Given the description of an element on the screen output the (x, y) to click on. 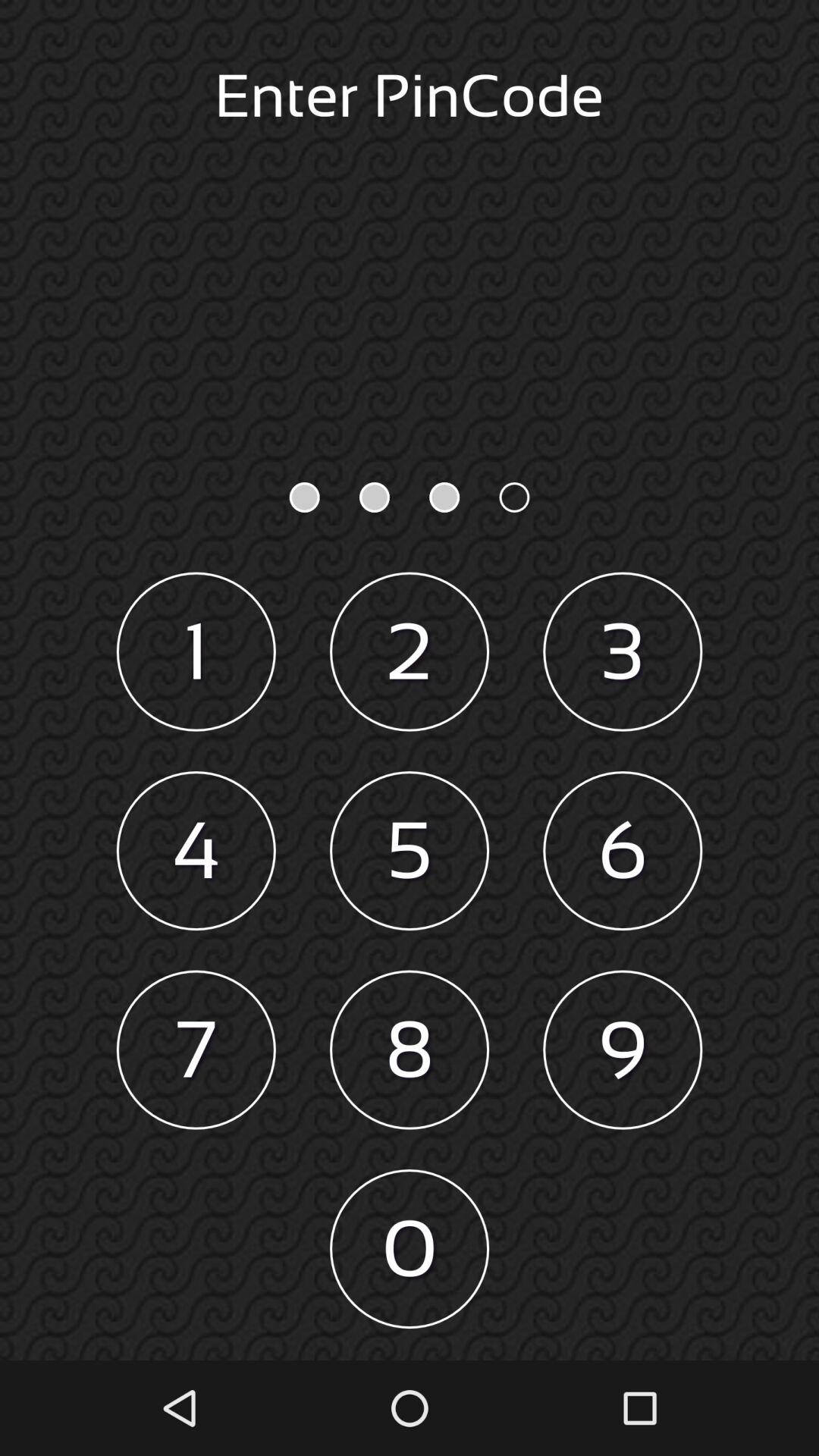
swipe until 6 (622, 850)
